Given the description of an element on the screen output the (x, y) to click on. 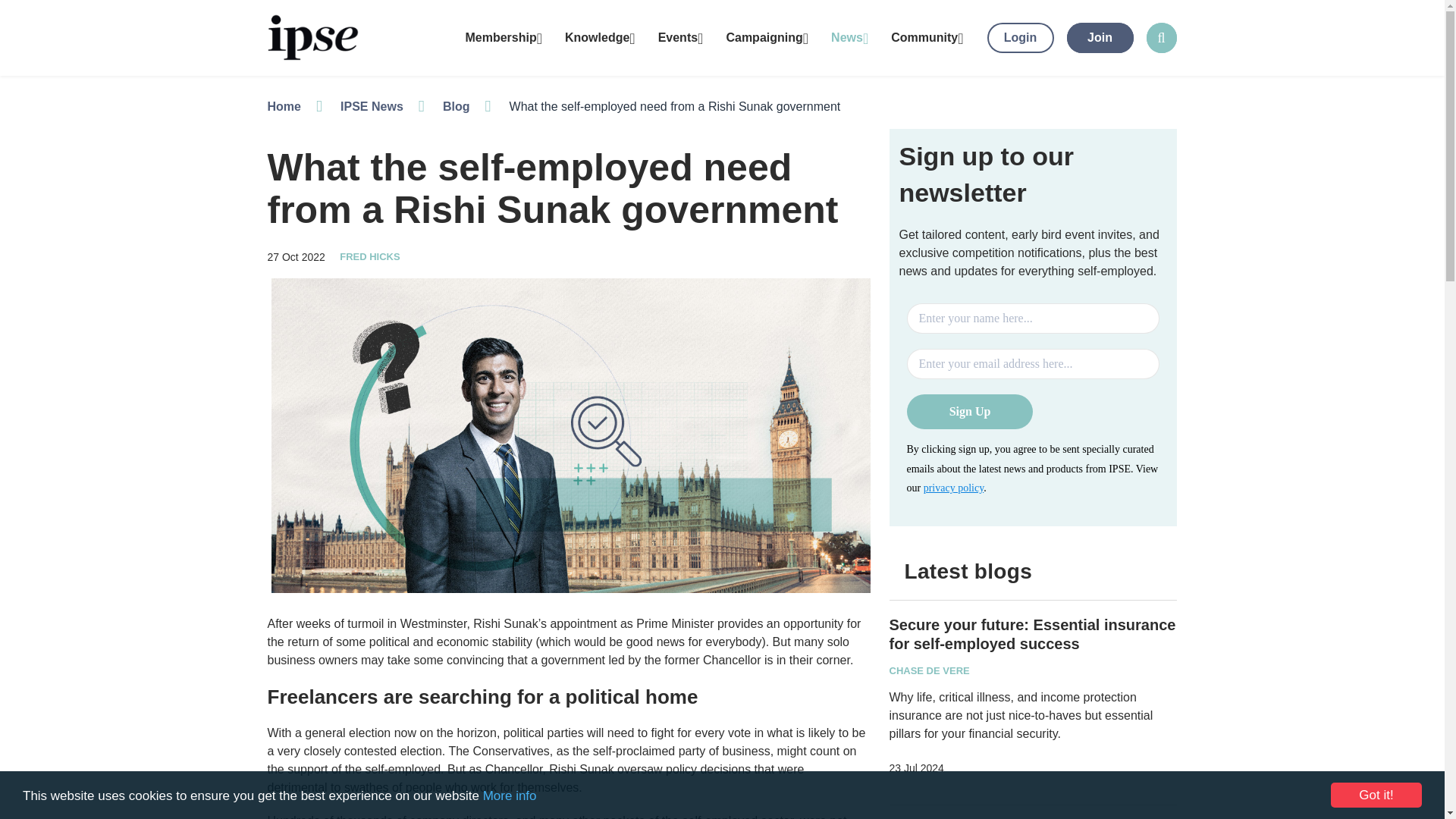
Sign Up (970, 411)
Knowledge (599, 38)
Community (926, 38)
Campaigning (766, 38)
Events (680, 38)
Membership (502, 38)
